Given the description of an element on the screen output the (x, y) to click on. 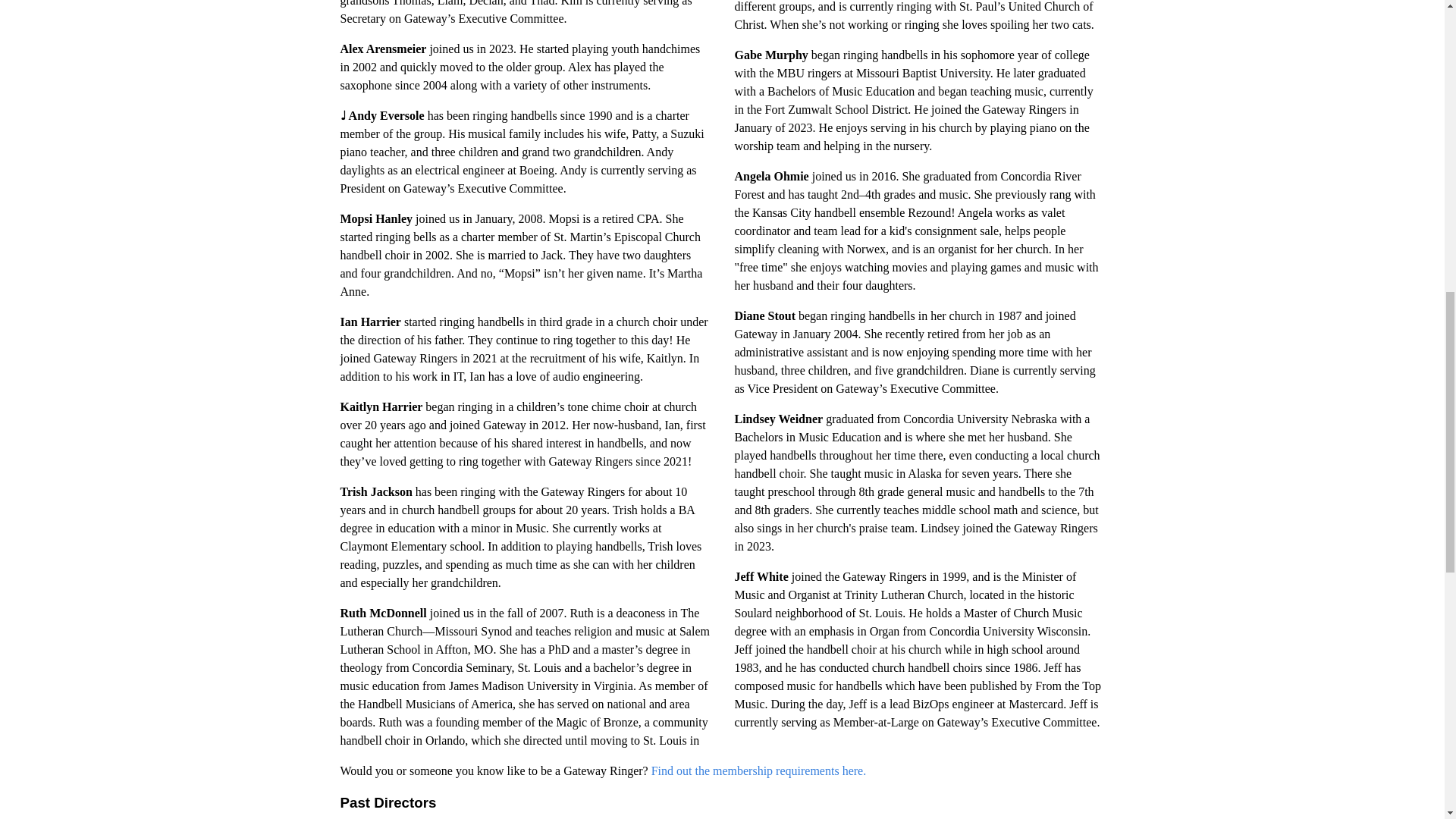
Find out the membership requirements here. (758, 770)
